Given the description of an element on the screen output the (x, y) to click on. 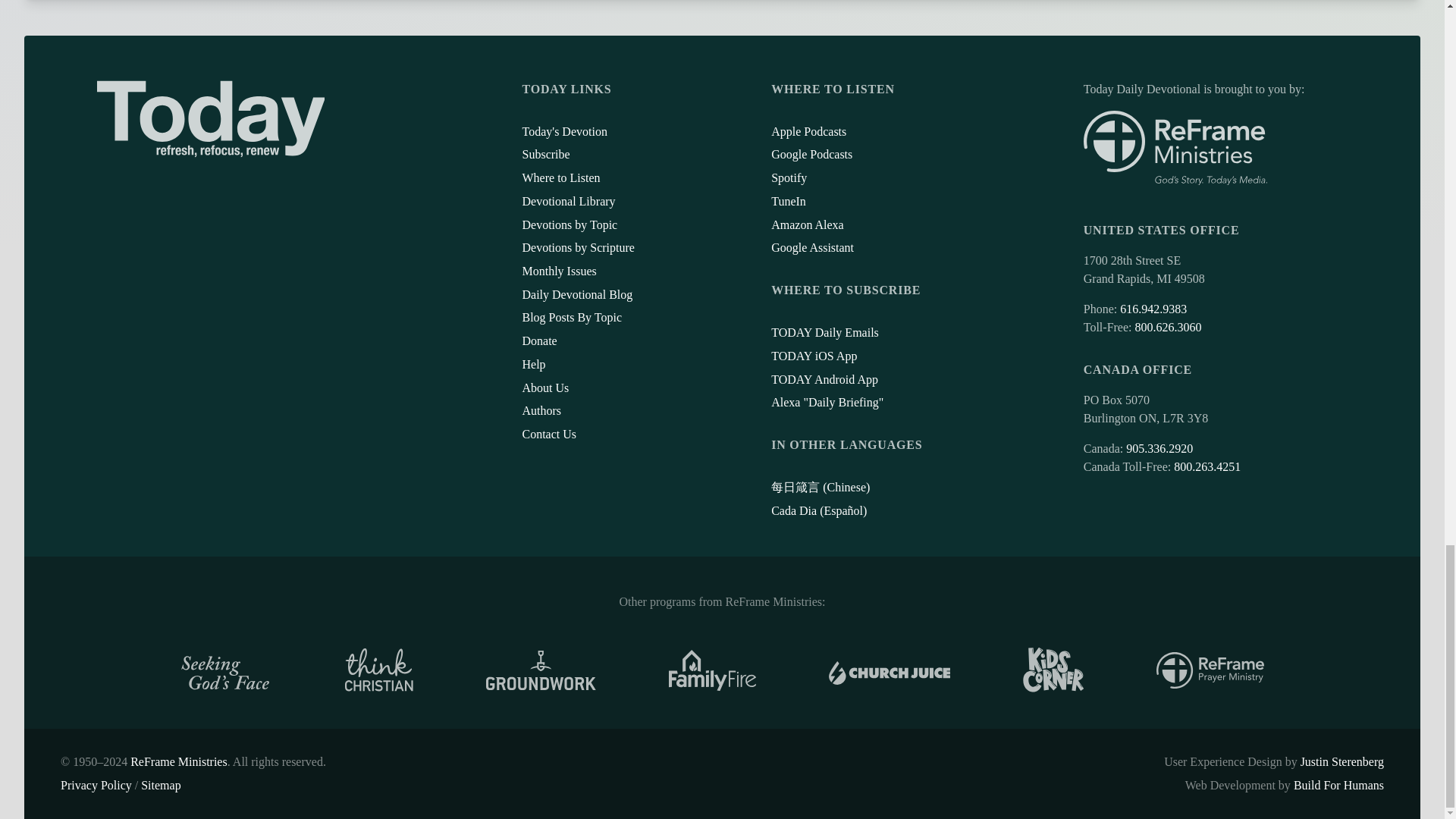
Help (532, 364)
Donate (538, 340)
Devotional Library (567, 201)
Devotions by Topic (569, 224)
Blog Posts By Topic (571, 317)
Today Daily Devotional (210, 119)
Where to Listen (560, 177)
Prayer Ministry (1209, 669)
Monthly Issues (558, 270)
